Given the description of an element on the screen output the (x, y) to click on. 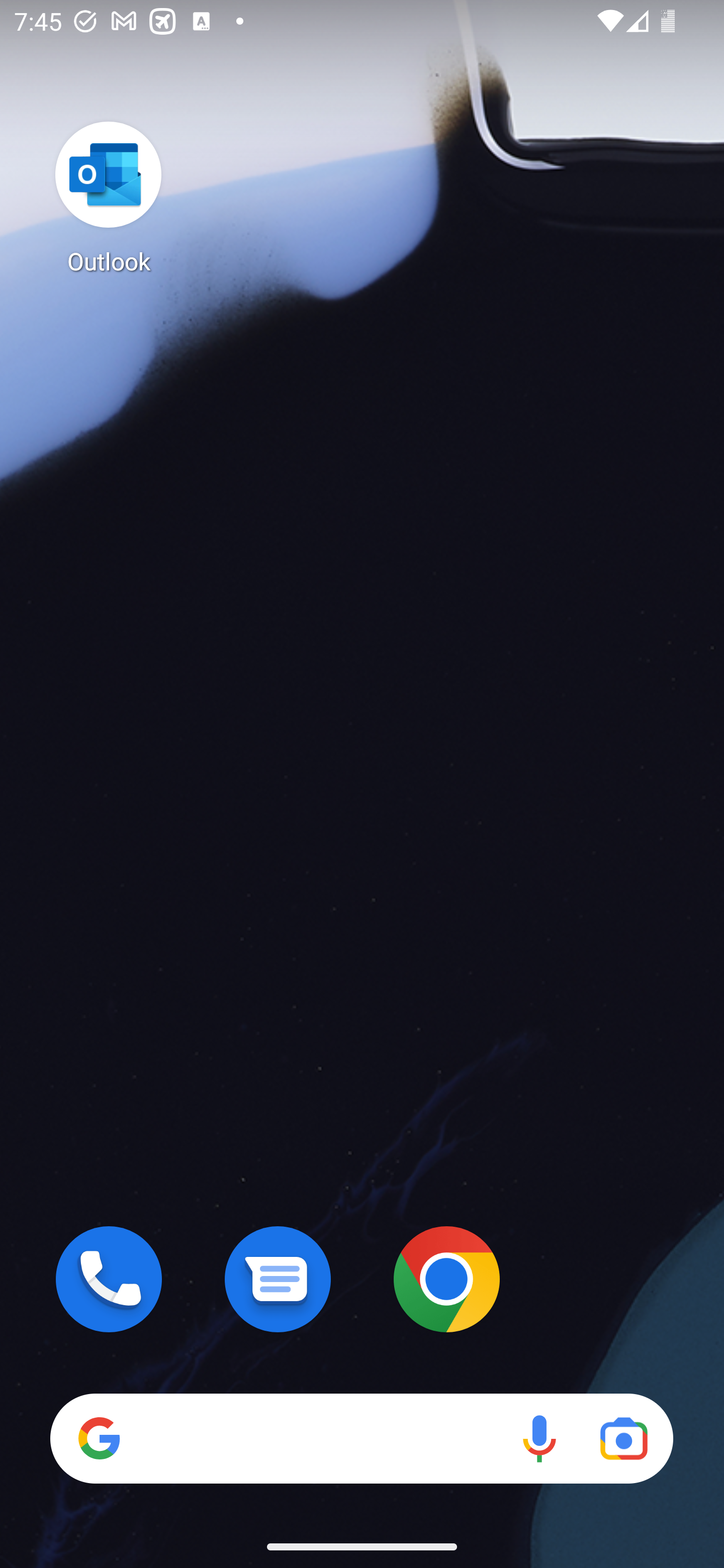
Outlook (108, 196)
Phone (108, 1279)
Messages (277, 1279)
Chrome (446, 1279)
Voice search (539, 1438)
Google Lens (623, 1438)
